Given the description of an element on the screen output the (x, y) to click on. 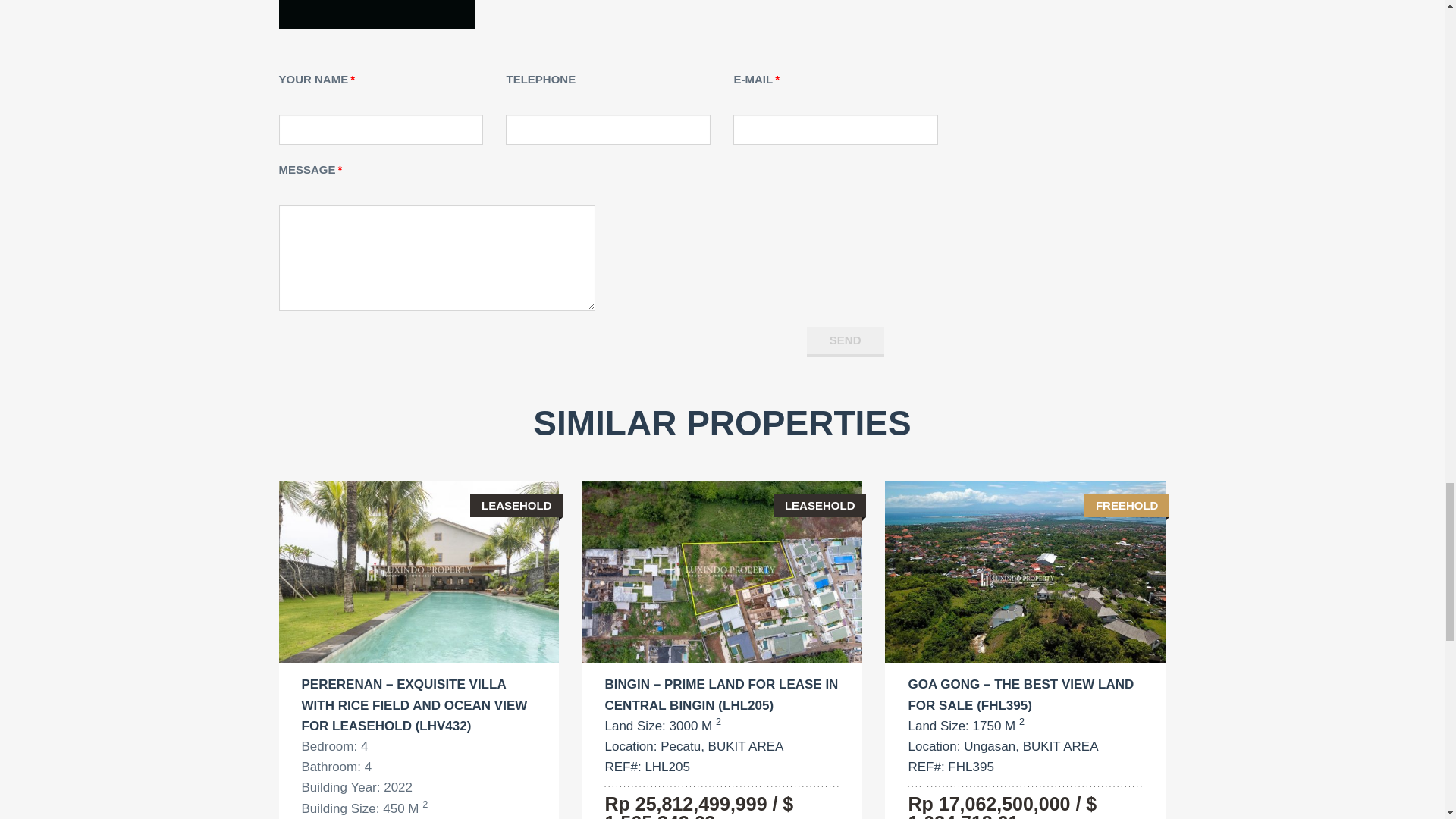
Send (844, 341)
